Given the description of an element on the screen output the (x, y) to click on. 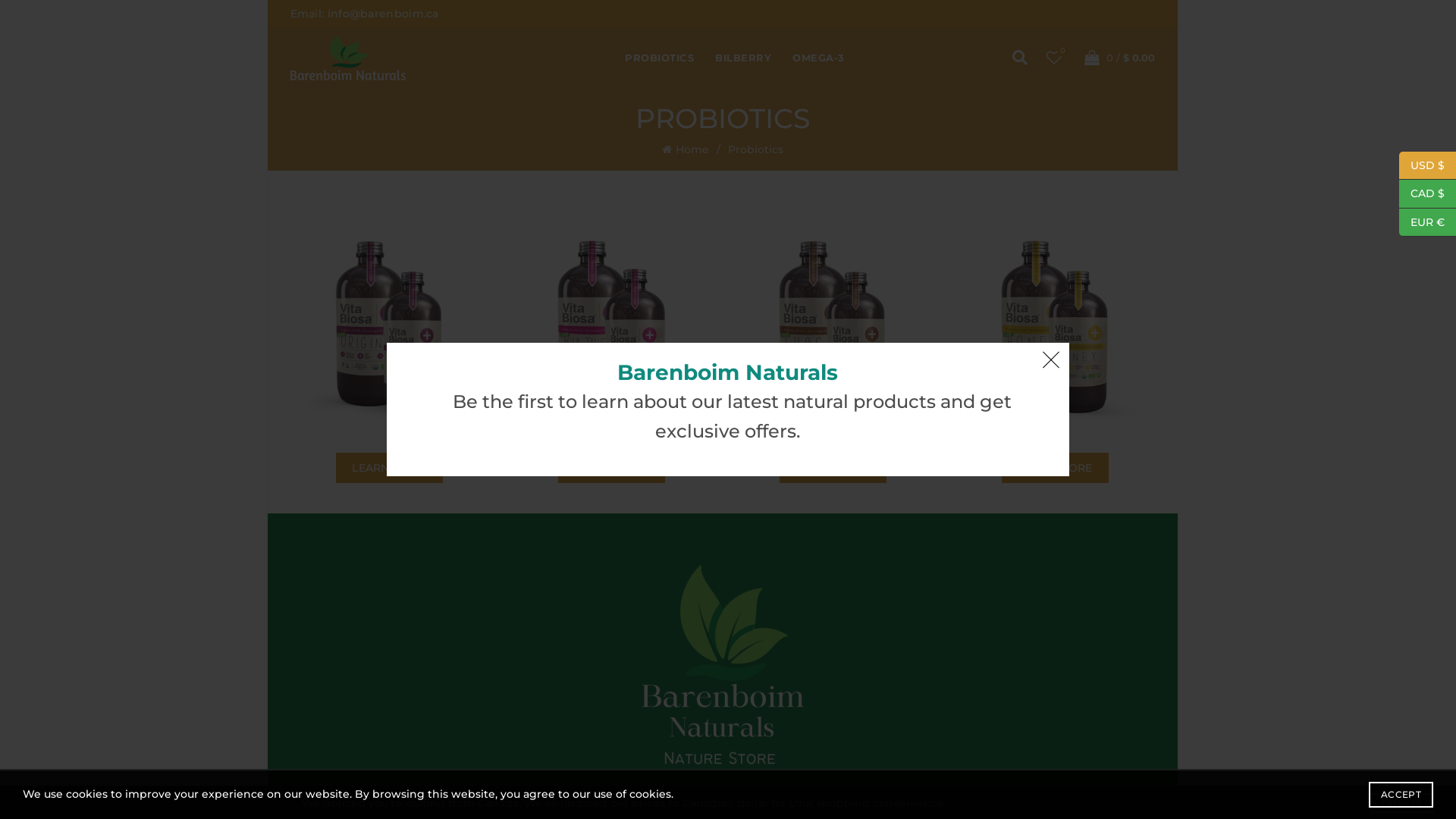
Search Element type: text (996, 21)
DISMISS Element type: text (1401, 802)
Home Element type: text (694, 149)
Use United States (US) dollar instead. Element type: text (1051, 802)
Search Element type: text (996, 99)
LEARN MORE Element type: text (388, 467)
LEARN MORE Element type: text (832, 467)
Wishlist
0 Element type: text (1052, 57)
Vita Biosa_Original Element type: hover (389, 326)
LEARN MORE Element type: text (611, 467)
0 / $ 0.00 Element type: text (1116, 57)
OMEGA-3 Element type: text (818, 57)
LEARN MORE Element type: text (1054, 467)
Vita Biosa_Honey reduc Element type: hover (1054, 326)
Vita Biosa_Milk Thistle reduc Element type: hover (611, 326)
Vita Biosa_Chaga reduc Element type: hover (833, 326)
PROBIOTICS Element type: text (659, 57)
BILBERRY Element type: text (743, 57)
ACCEPT Element type: text (1400, 794)
